Given the description of an element on the screen output the (x, y) to click on. 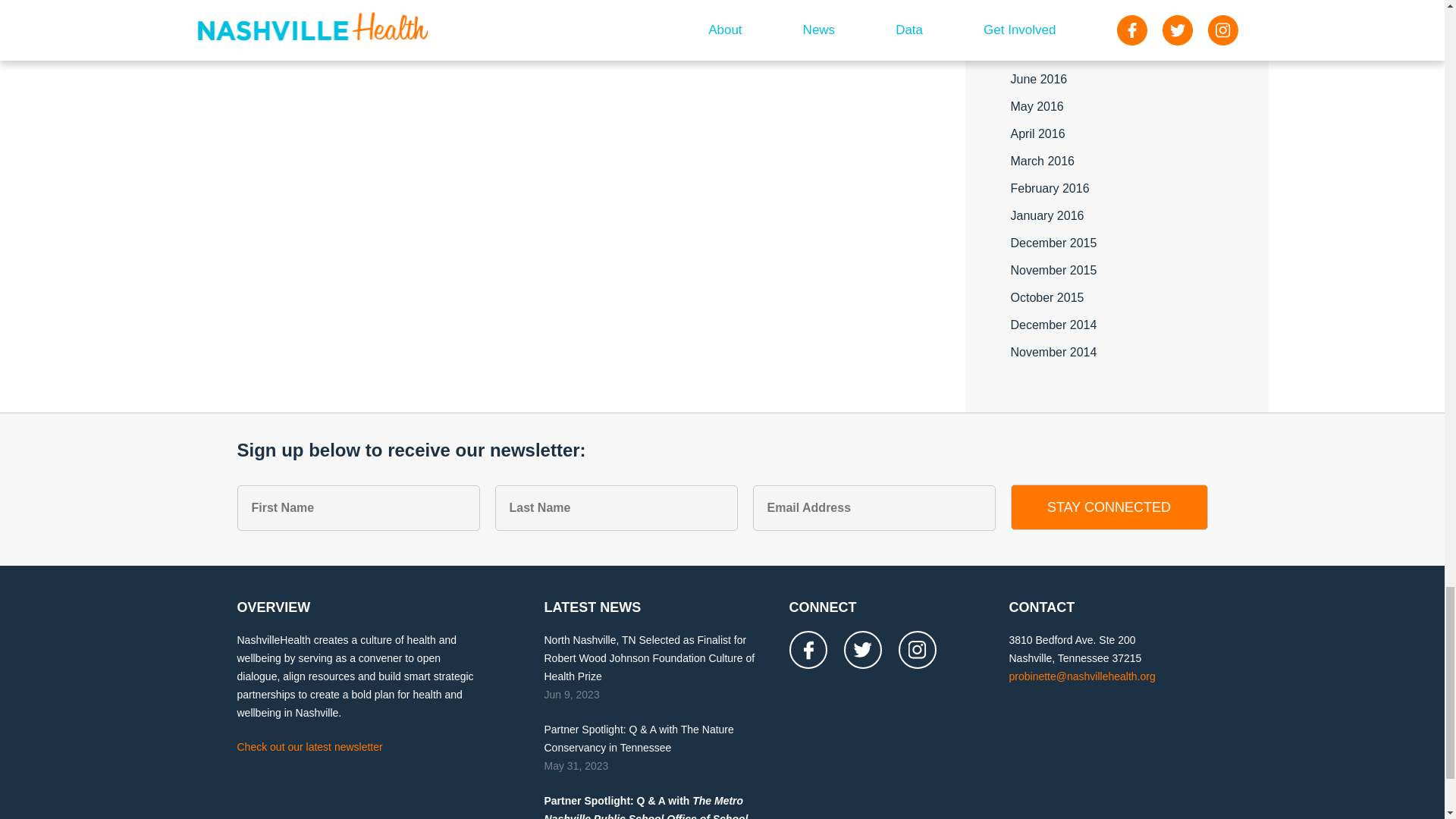
Stay connected (1108, 506)
